Given the description of an element on the screen output the (x, y) to click on. 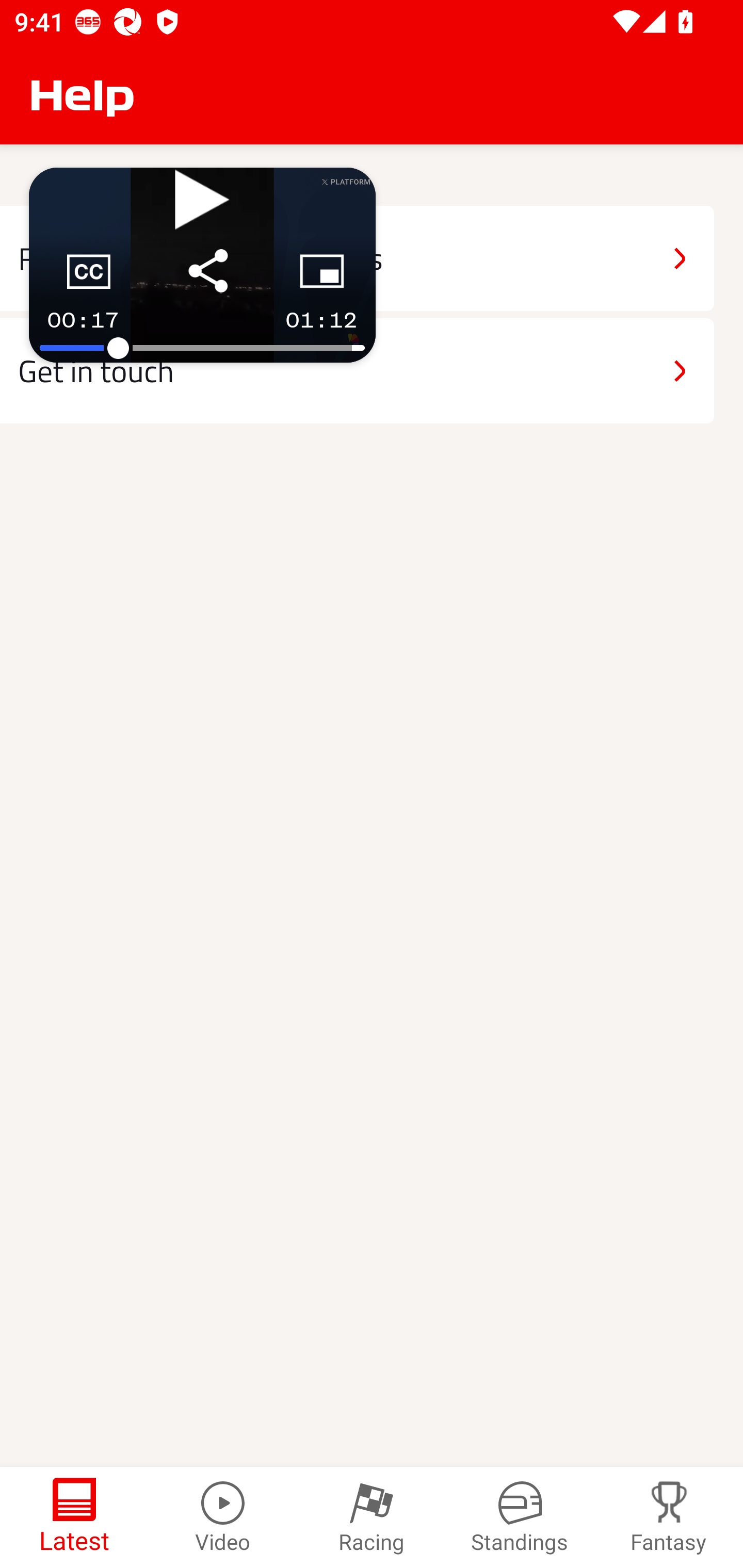
Get in touch (357, 370)
Video (222, 1517)
Racing (371, 1517)
Standings (519, 1517)
Fantasy (668, 1517)
